Given the description of an element on the screen output the (x, y) to click on. 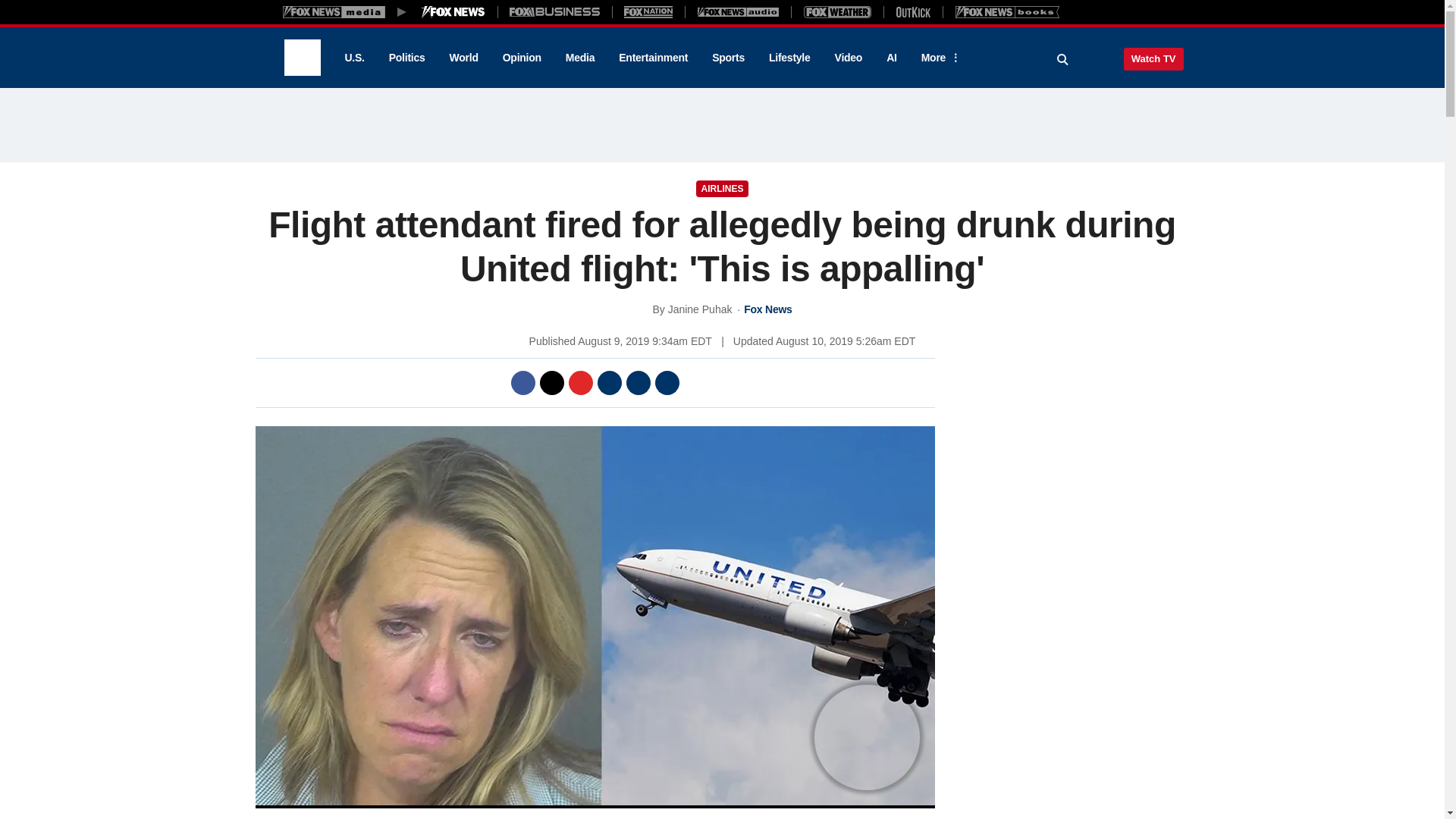
Fox Business (554, 11)
Sports (728, 57)
Politics (407, 57)
Lifestyle (789, 57)
Books (1007, 11)
Media (580, 57)
Entertainment (653, 57)
Fox Weather (836, 11)
U.S. (353, 57)
AI (891, 57)
